Given the description of an element on the screen output the (x, y) to click on. 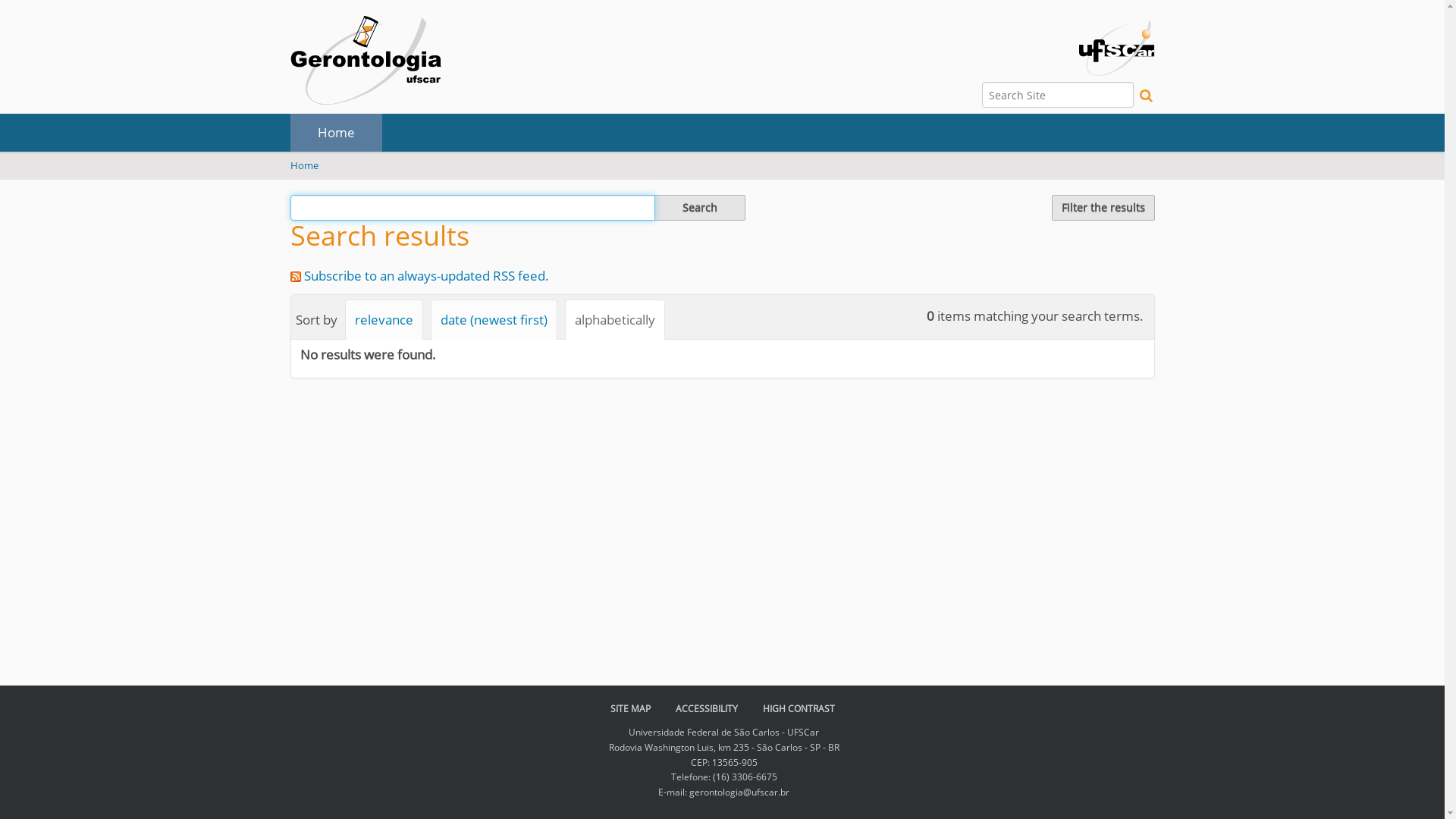
Subscribe to an always-updated RSS feed. Element type: text (425, 275)
English Element type: hover (365, 60)
HIGH CONTRAST Element type: text (798, 708)
ACCESSIBILITY Element type: text (705, 708)
date (newest first) Element type: text (493, 319)
Search Site Element type: hover (471, 207)
SITE MAP Element type: text (629, 708)
Portal UFSCar Element type: hover (1116, 46)
Home Element type: text (303, 165)
alphabetically Element type: text (614, 319)
Search Element type: text (698, 207)
Search Site Element type: hover (1057, 94)
Home Element type: text (335, 132)
relevance Element type: text (383, 319)
Filter the results Element type: text (1102, 207)
